Given the description of an element on the screen output the (x, y) to click on. 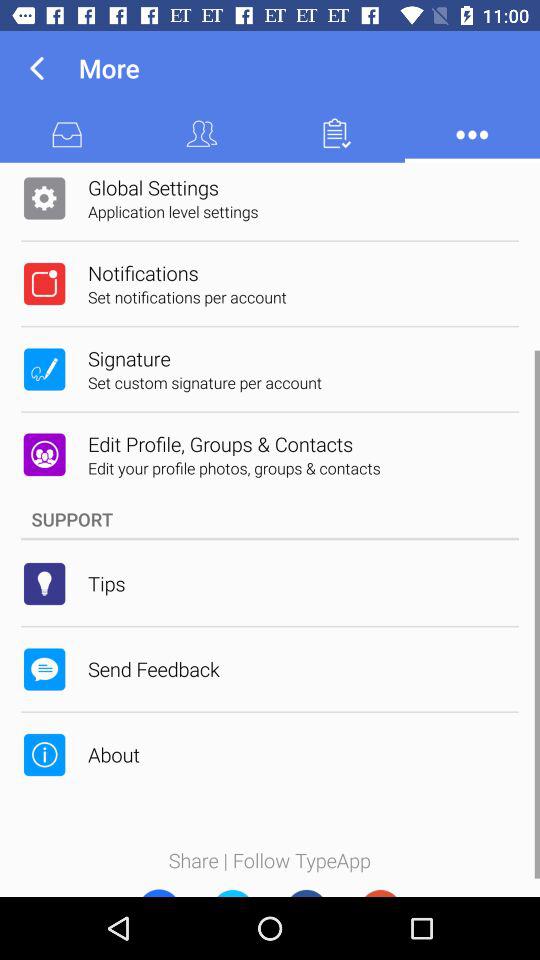
swipe until the set custom signature item (205, 382)
